Given the description of an element on the screen output the (x, y) to click on. 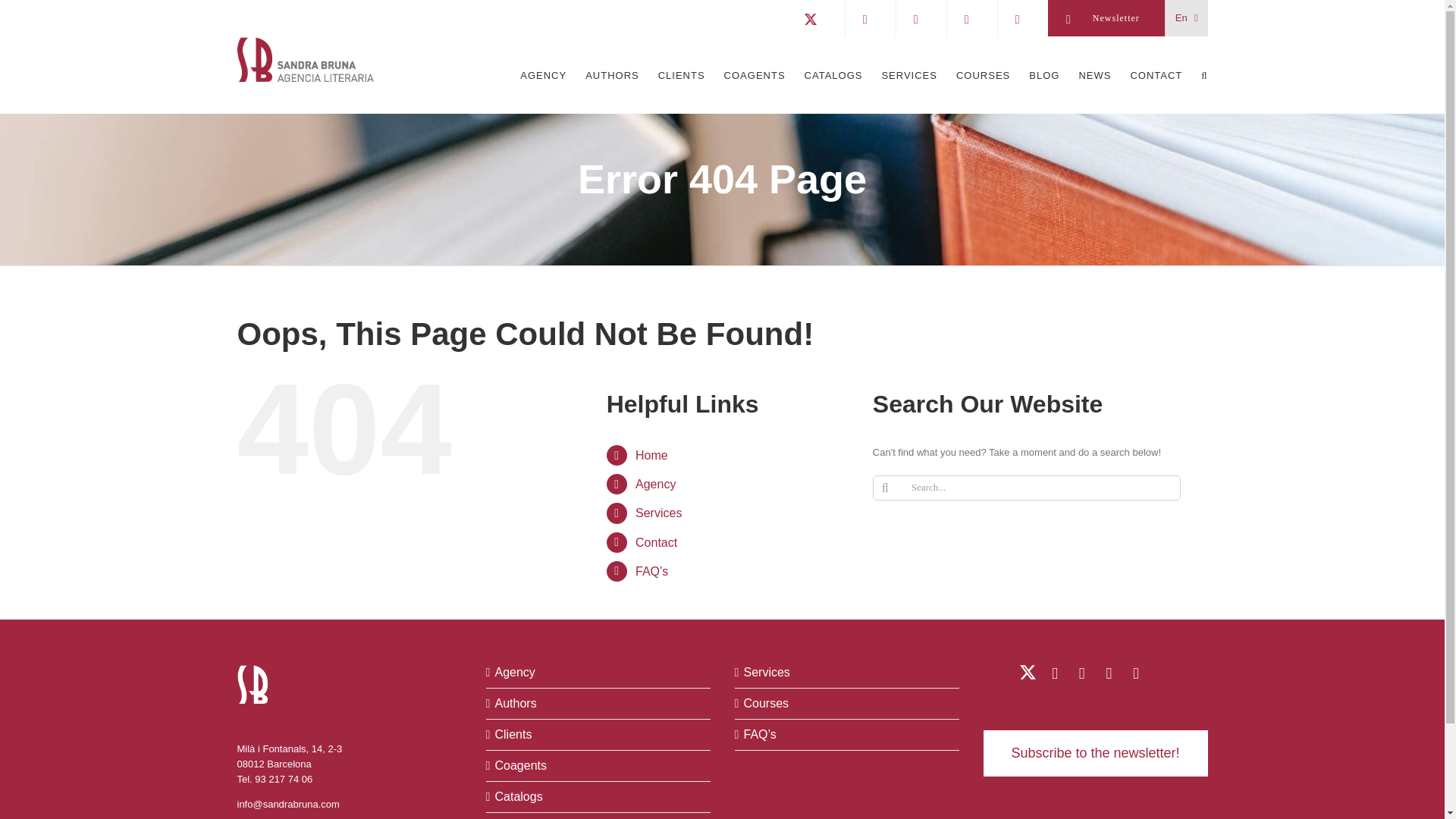
Newsletter (1106, 18)
YouTube (1081, 673)
Instagram (1134, 673)
LinkedIn (1054, 673)
En (1187, 18)
Facebook (1108, 673)
